Given the description of an element on the screen output the (x, y) to click on. 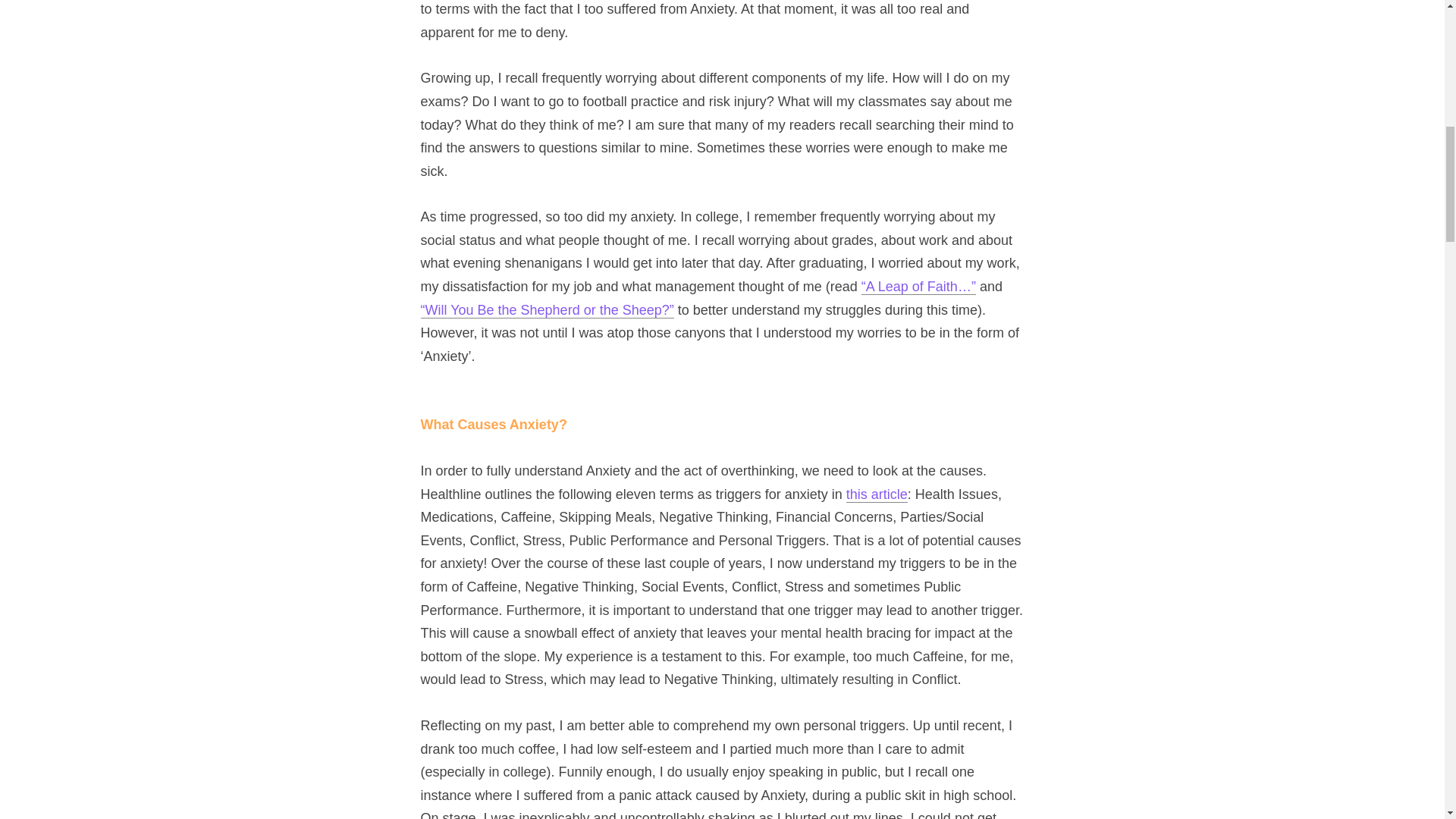
this article (876, 494)
